Given the description of an element on the screen output the (x, y) to click on. 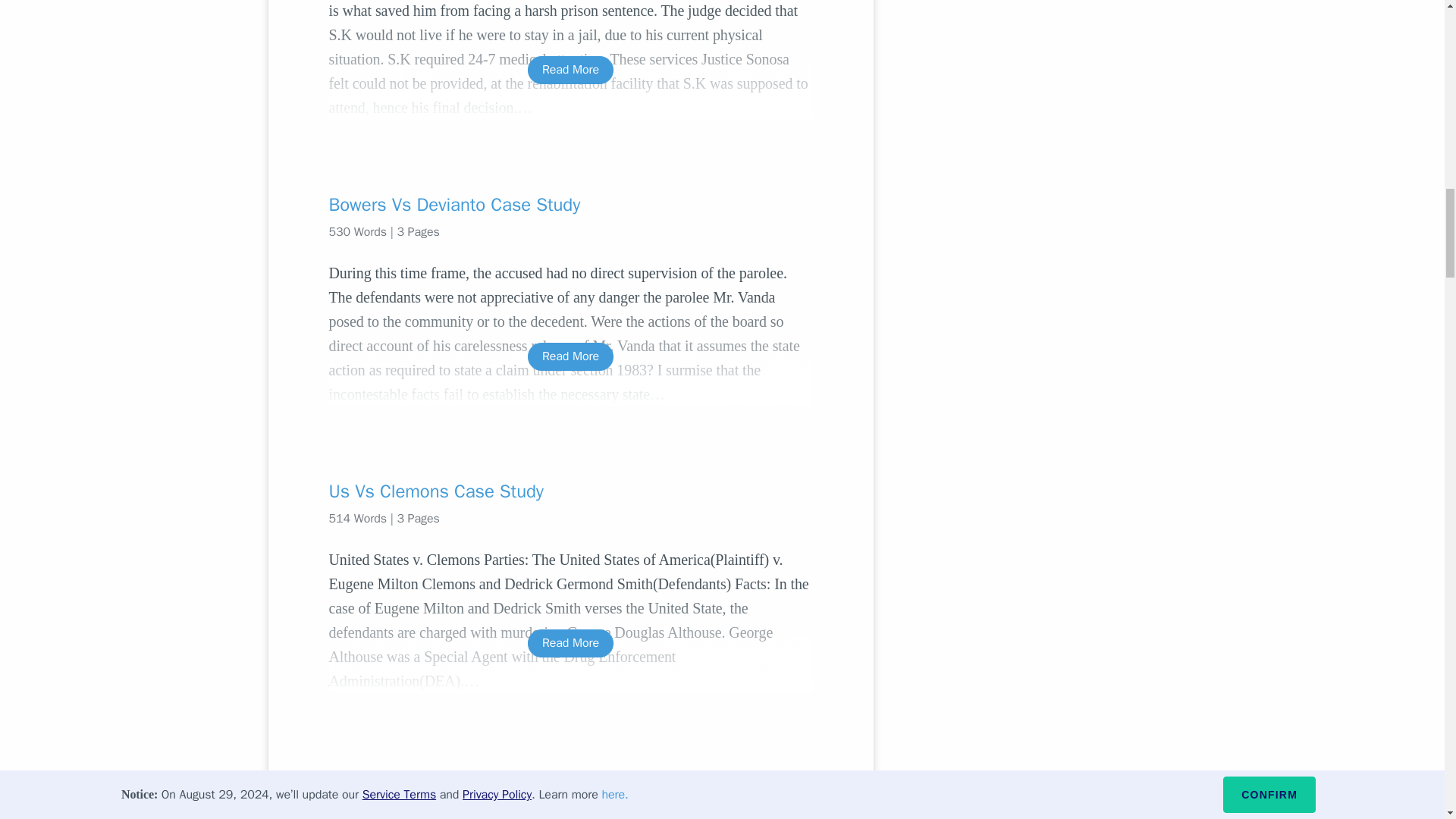
Bowers Vs Devianto Case Study (570, 204)
Read More (569, 643)
The Case Of People V. Mr2d 504 (570, 777)
Read More (569, 70)
Read More (569, 357)
Us Vs Clemons Case Study (570, 491)
